Given the description of an element on the screen output the (x, y) to click on. 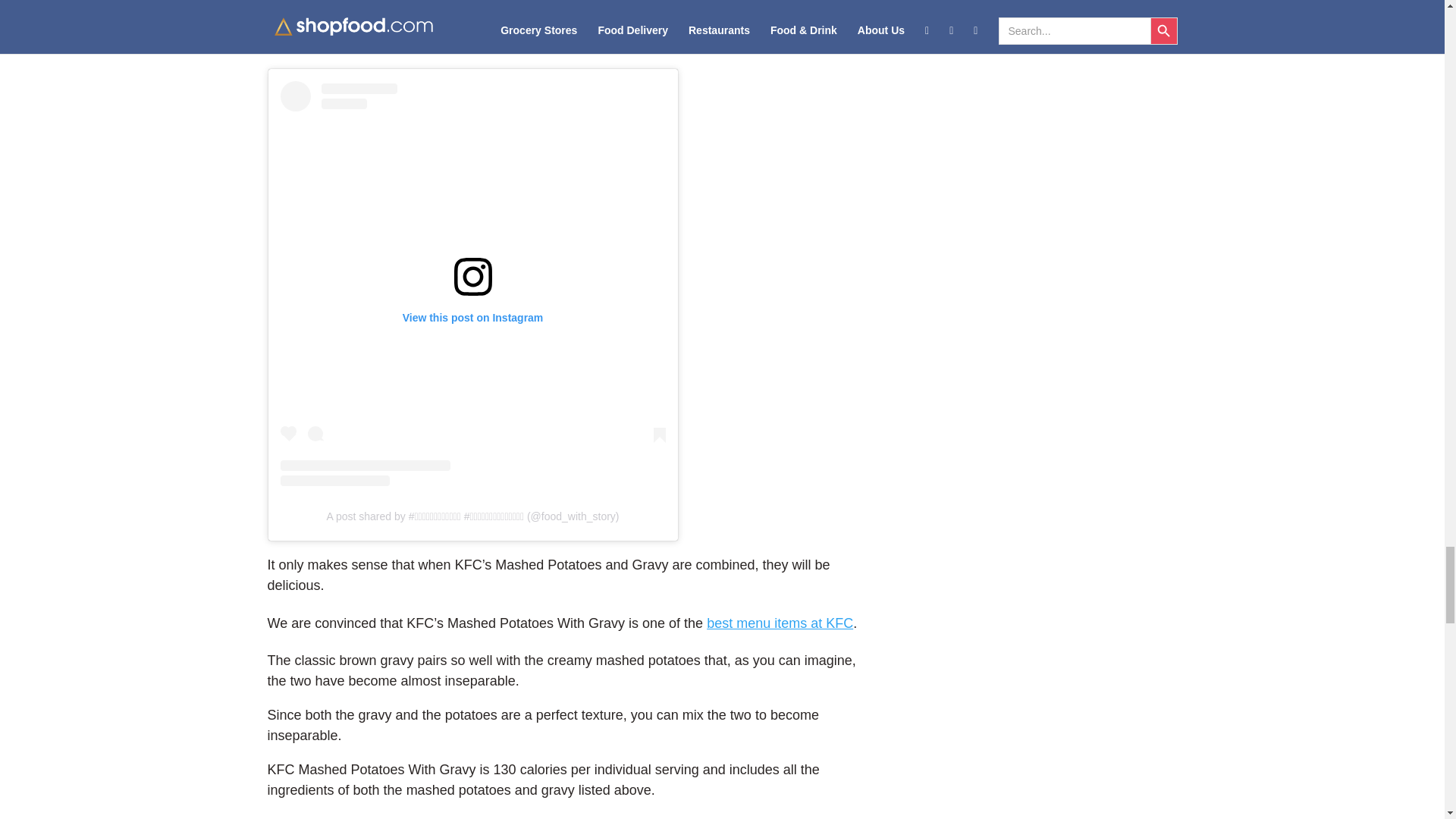
best menu items at KFC (779, 622)
